Given the description of an element on the screen output the (x, y) to click on. 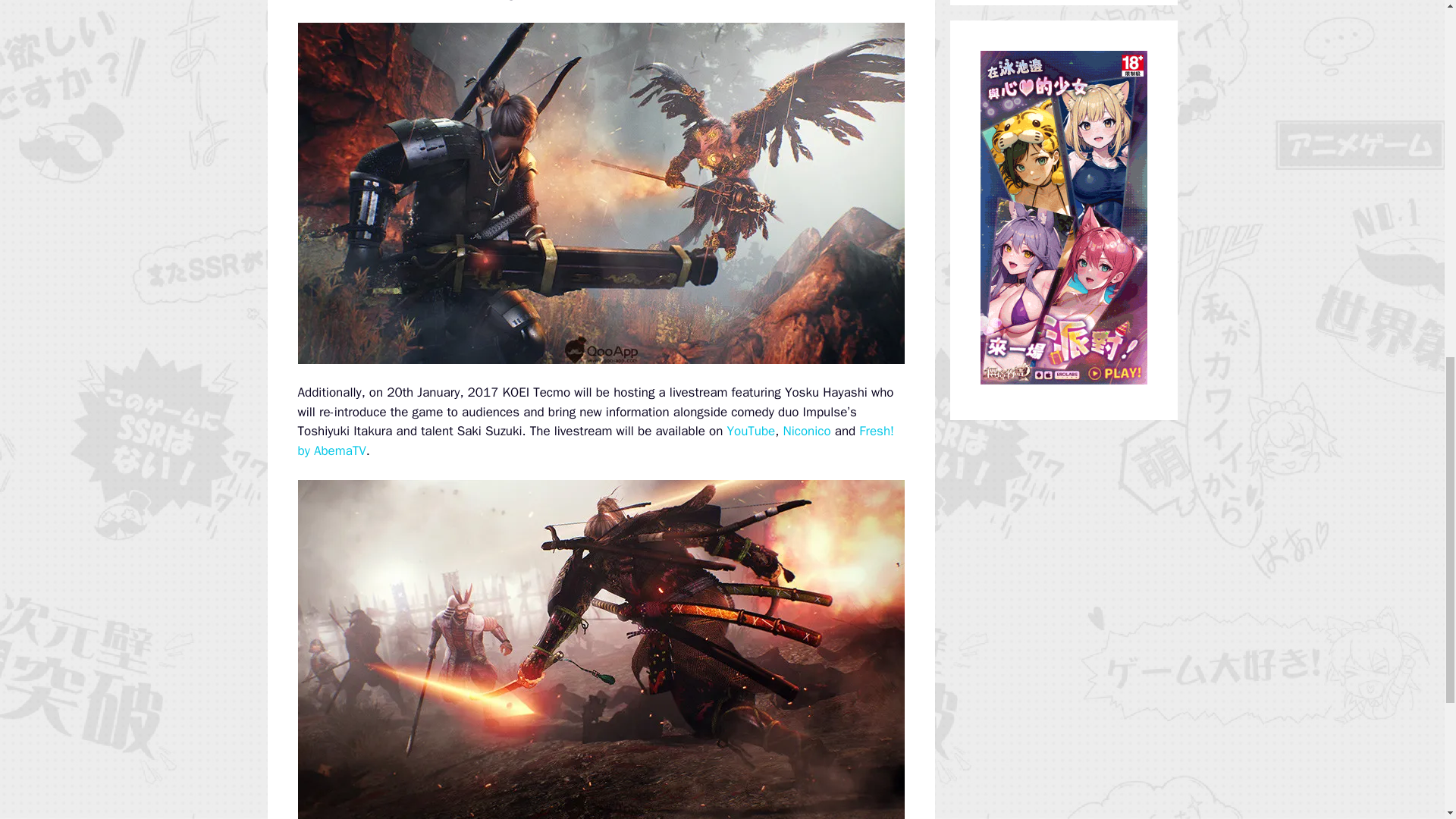
Fresh! by AbemaTV (595, 440)
Niconico (806, 430)
YouTube (750, 430)
